Given the description of an element on the screen output the (x, y) to click on. 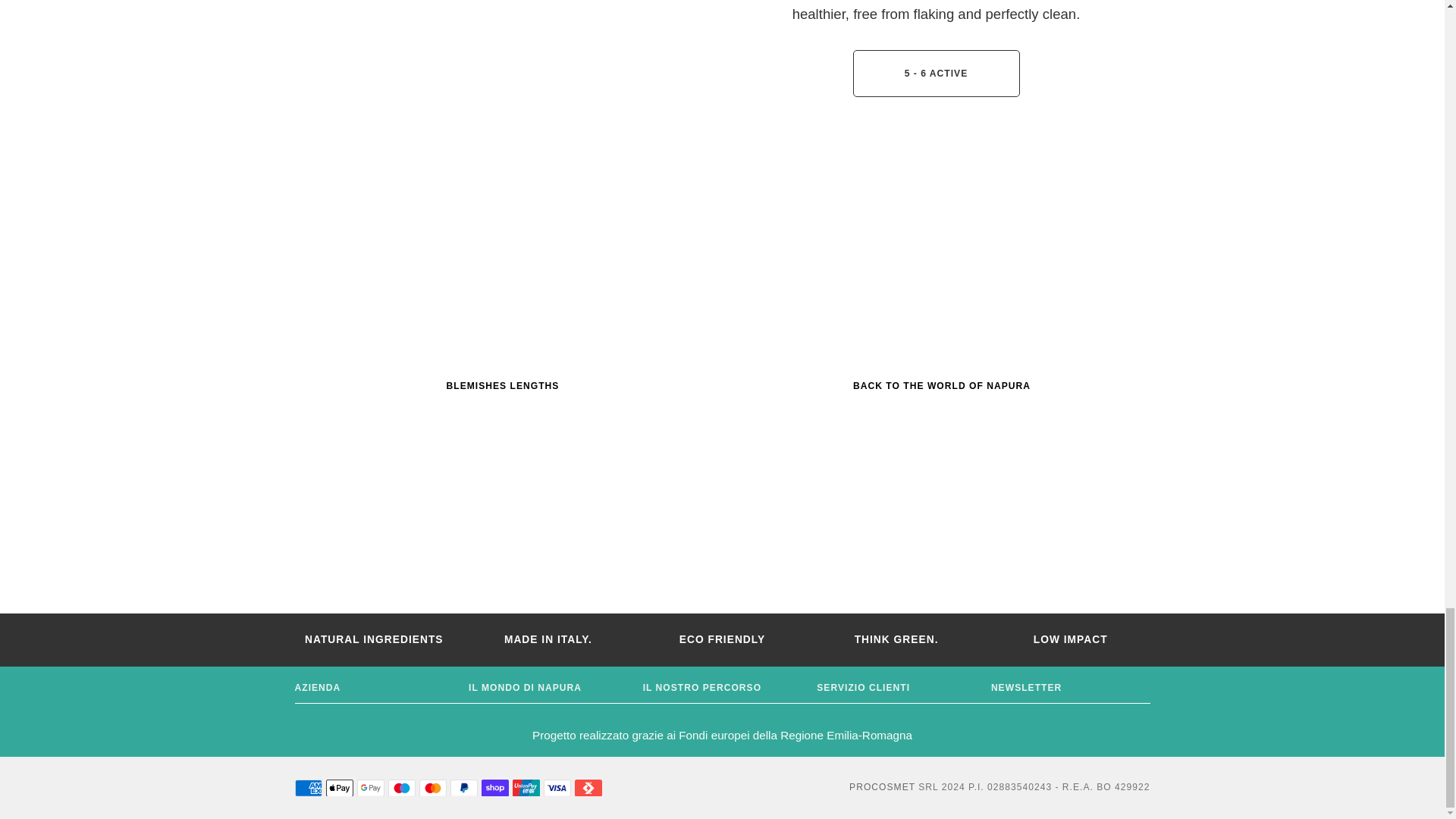
SHOP PAY (494, 787)
VISA (556, 787)
UNION PAY (526, 787)
MASTERCARD (432, 787)
APPLE PAY (339, 787)
MAESTRO (401, 787)
AMERICAN EXPRESS (307, 787)
PAYPAL (463, 787)
GOOGLE PAY (370, 787)
